Given the description of an element on the screen output the (x, y) to click on. 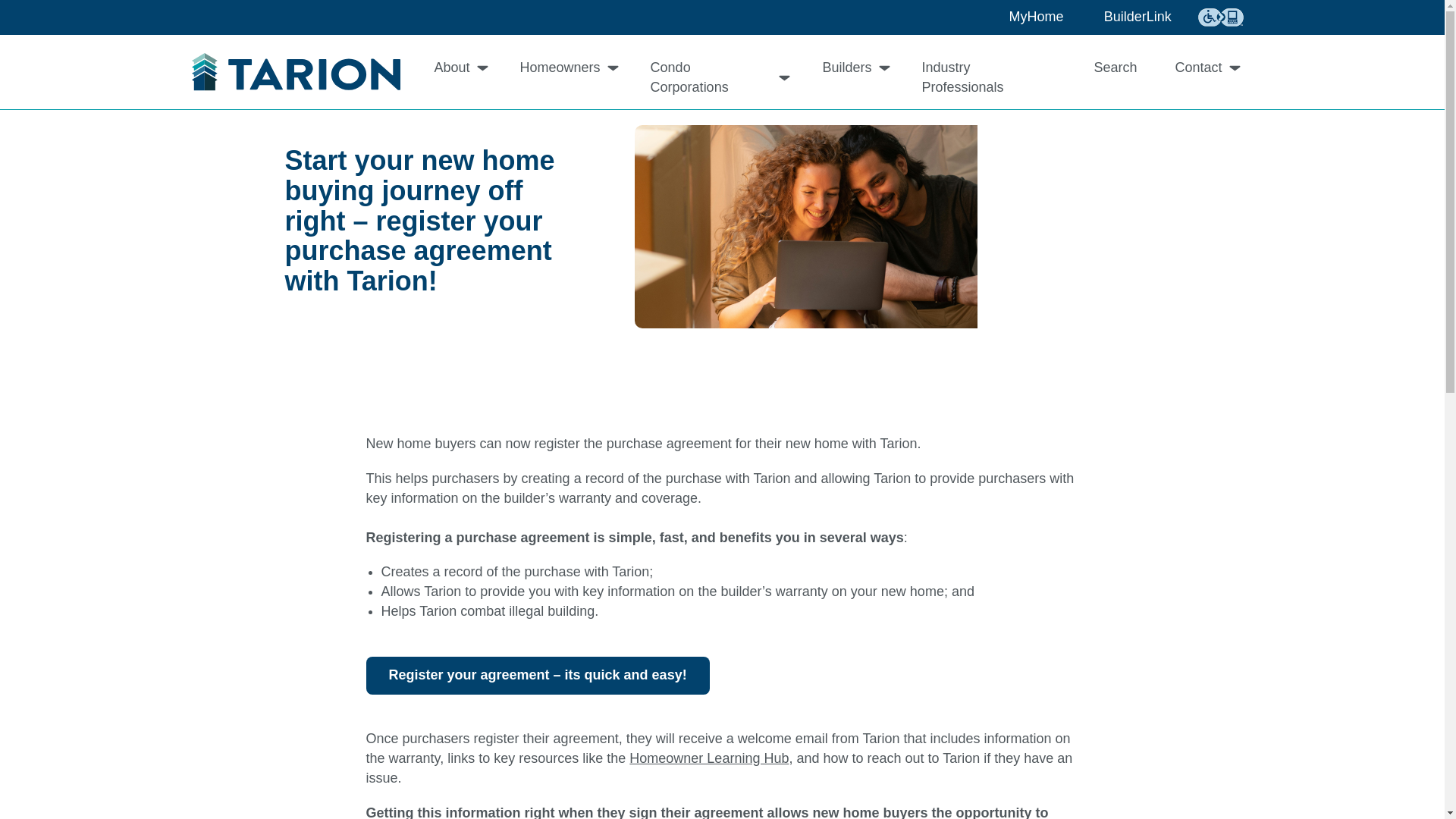
BuilderLink (1126, 17)
Homeowners (565, 67)
Condo Corporations (717, 77)
MyHome (1025, 17)
About (457, 67)
